Given the description of an element on the screen output the (x, y) to click on. 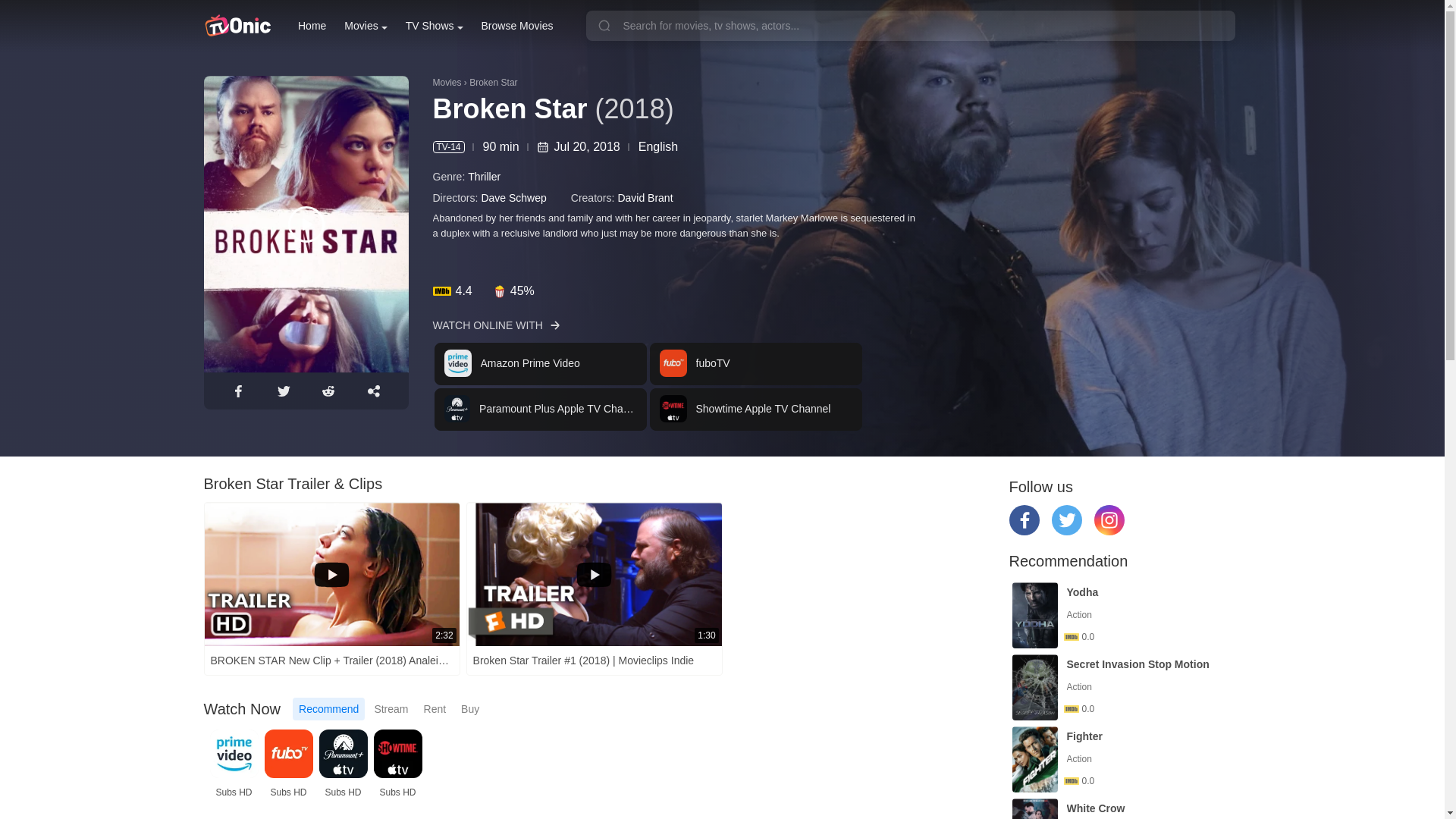
Home (312, 25)
TV Shows (434, 25)
Movies (365, 25)
TVOnic (236, 25)
Movies (365, 25)
